Given the description of an element on the screen output the (x, y) to click on. 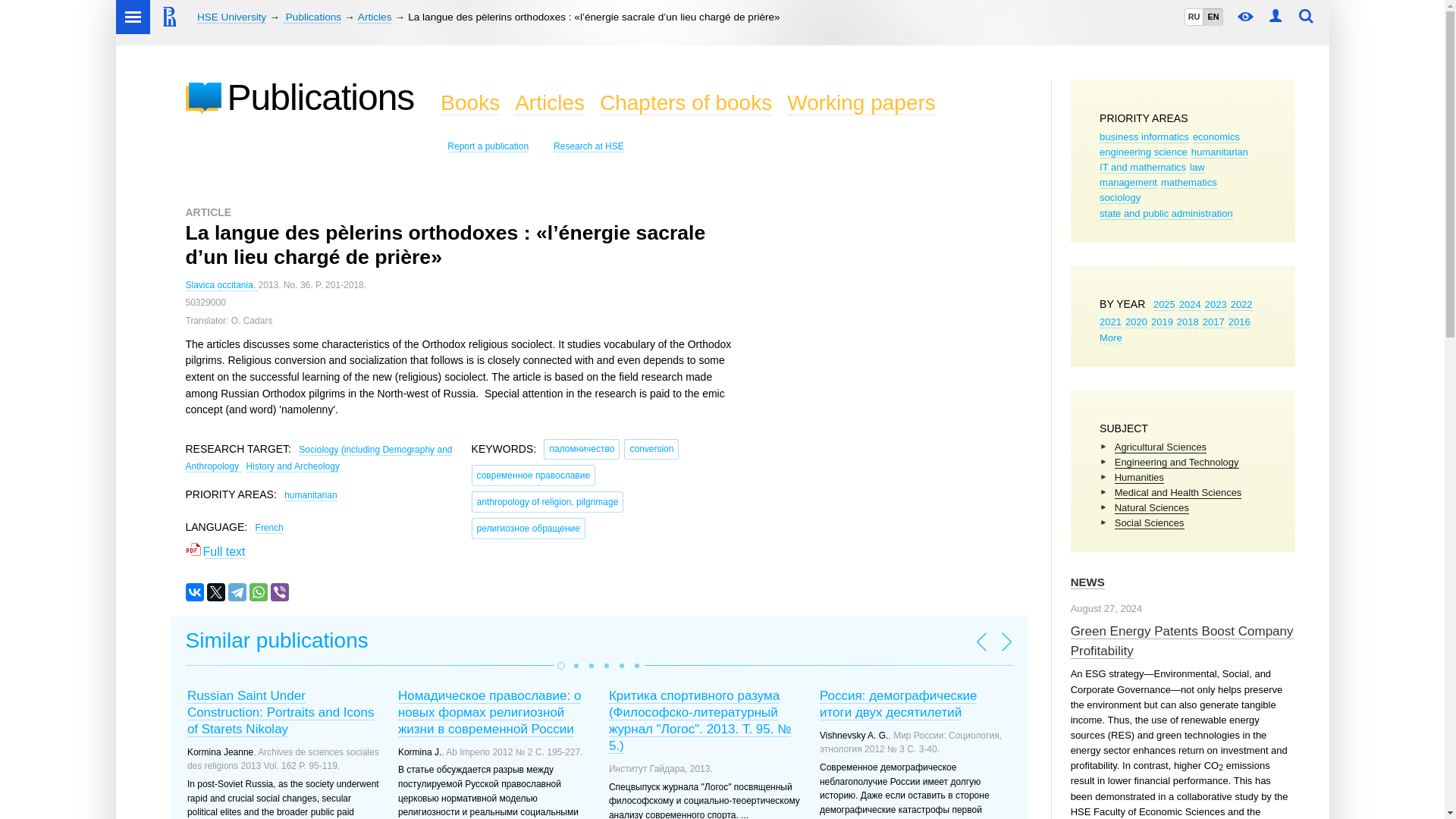
engineering science (1143, 152)
IT and mathematics (1142, 167)
2022 (1241, 304)
mathematics (1188, 182)
2016 (1239, 322)
Articles (374, 17)
RU (1194, 17)
humanitarian (1219, 152)
2021 (1110, 322)
2024 (1190, 304)
